Given the description of an element on the screen output the (x, y) to click on. 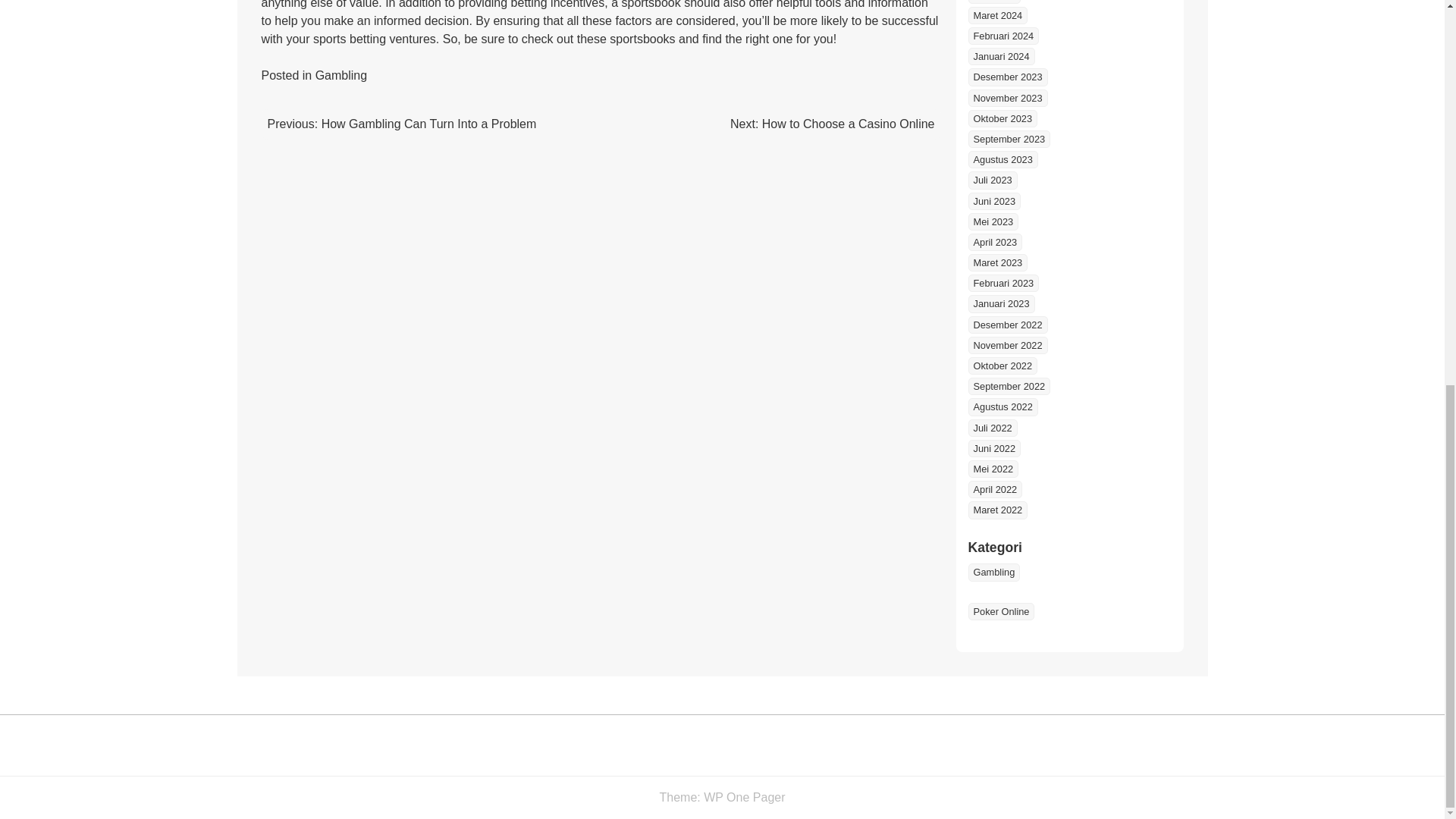
Next: How to Choose a Casino Online (832, 123)
Februari 2024 (1003, 36)
September 2022 (1008, 385)
Juni 2023 (994, 200)
Mei 2023 (992, 221)
November 2023 (1007, 98)
Desember 2022 (1007, 324)
Januari 2024 (1000, 56)
September 2023 (1008, 139)
Agustus 2022 (1002, 406)
Juni 2024 (994, 2)
Previous: How Gambling Can Turn Into a Problem (400, 123)
Juli 2022 (992, 427)
November 2022 (1007, 344)
Desember 2023 (1007, 76)
